Given the description of an element on the screen output the (x, y) to click on. 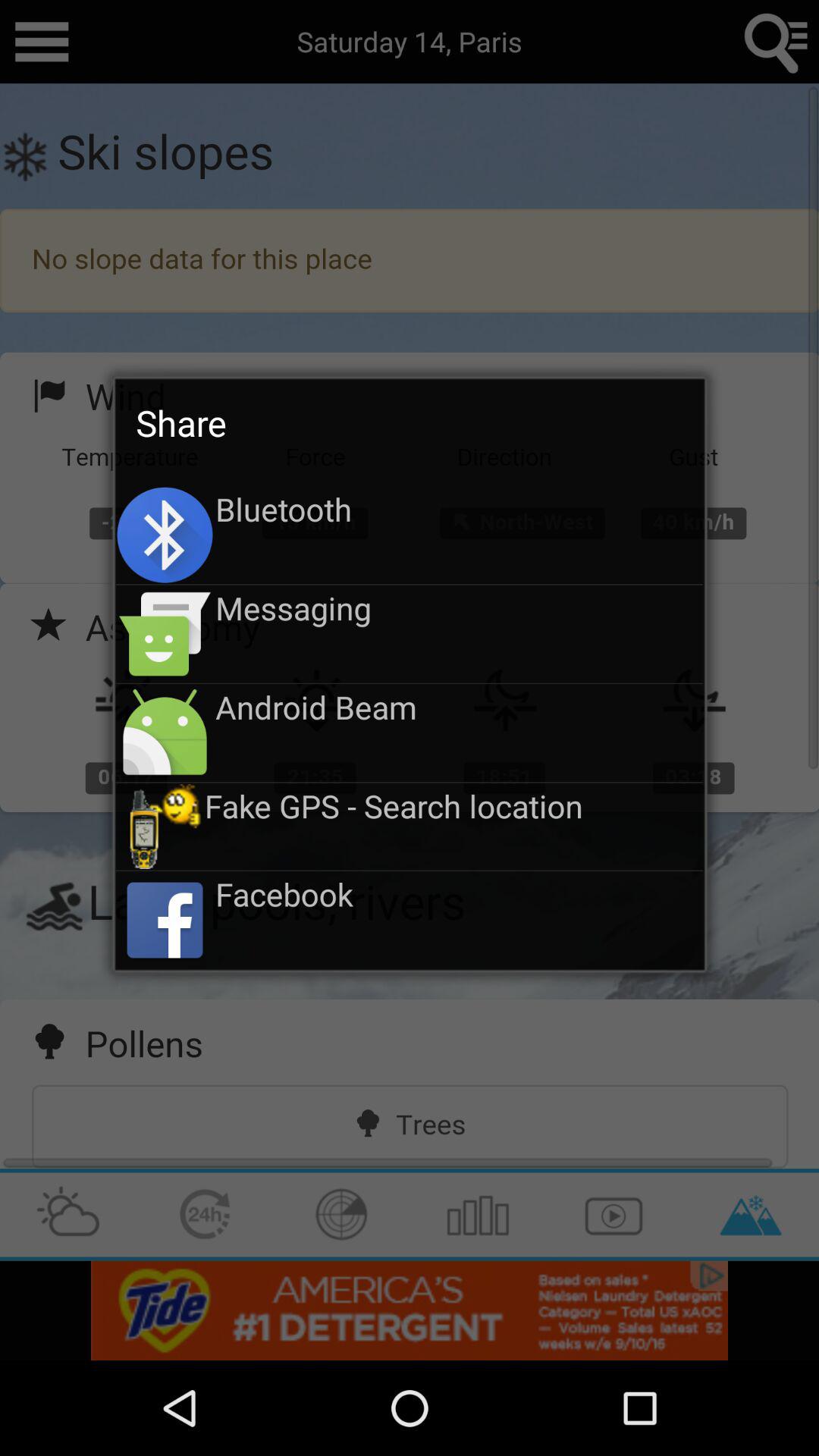
click icon above the fake gps search icon (458, 706)
